Given the description of an element on the screen output the (x, y) to click on. 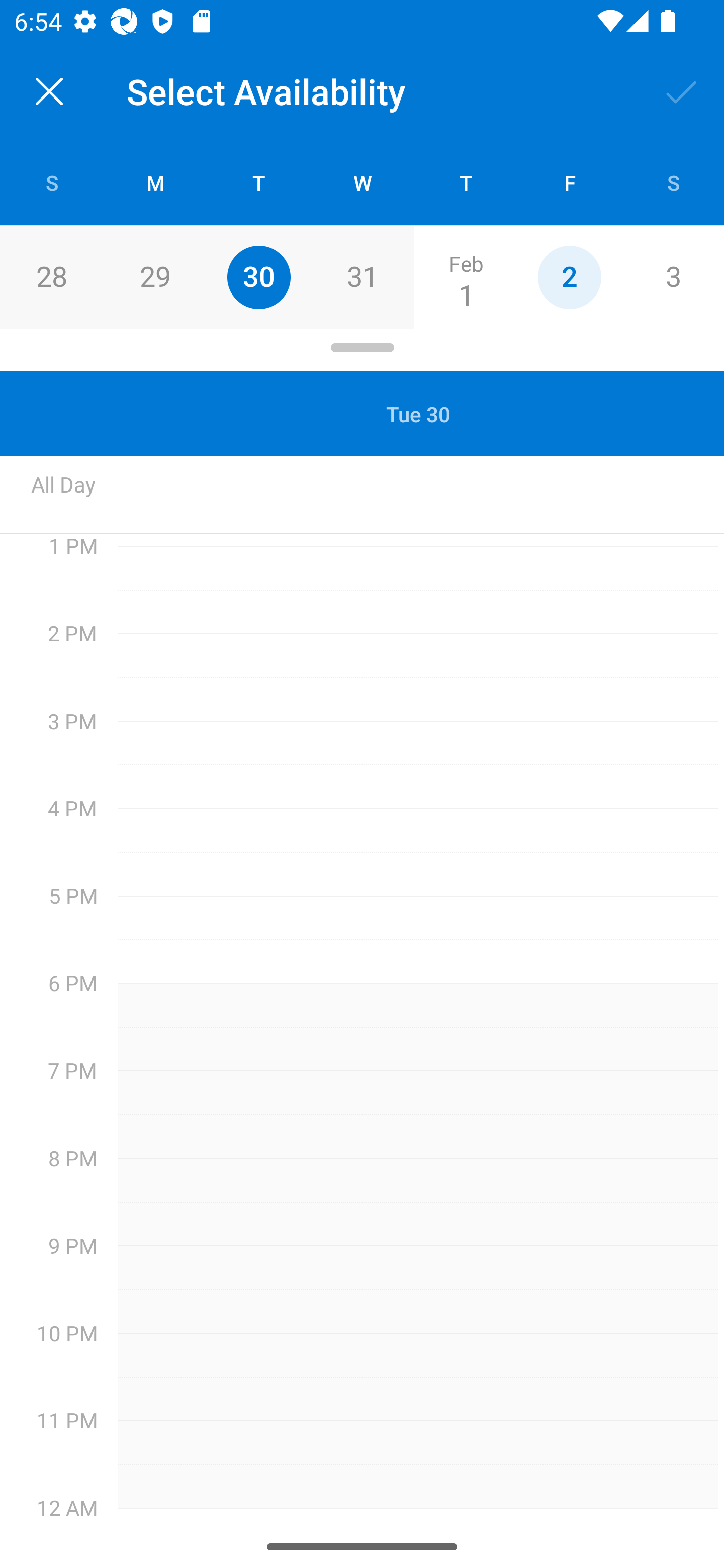
Close (49, 91)
Done button (681, 90)
28 Sunday, January 28 (51, 277)
29 Monday, January 29 (155, 277)
30 Tuesday, January 30, Selected (258, 277)
31 Wednesday, January 31 (362, 277)
Feb
1 Thursday, February 1 (465, 277)
2 Friday, February 2, today (569, 277)
3 Saturday, February 3 (672, 277)
Day picker expand (362, 350)
